Given the description of an element on the screen output the (x, y) to click on. 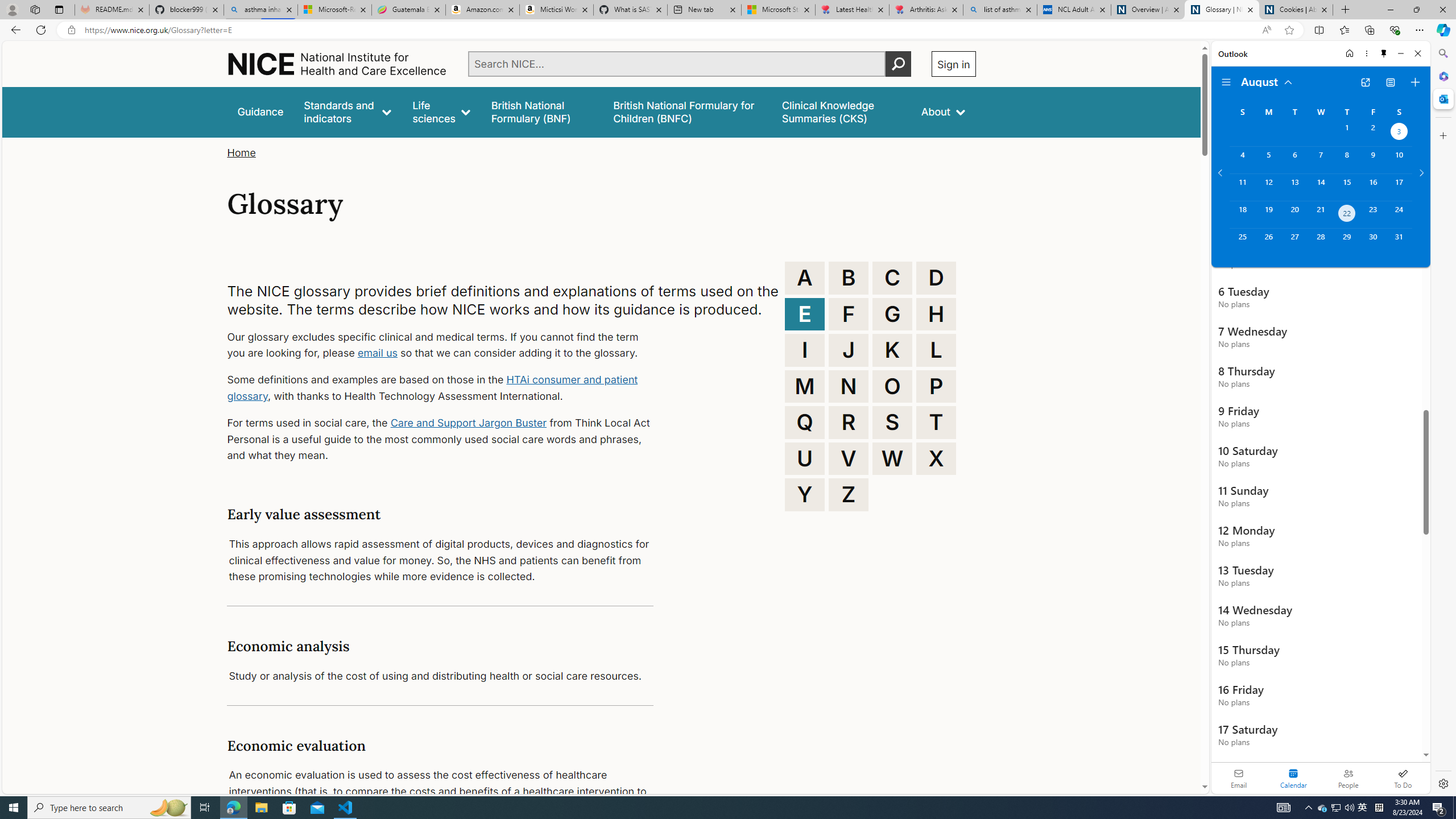
Create event (1414, 82)
U (804, 458)
Q (804, 422)
email us (376, 353)
Monday, August 19, 2024.  (1268, 214)
Search (1442, 53)
G (892, 313)
false (841, 111)
V (848, 458)
X (935, 458)
Personal Profile (12, 9)
Q (804, 422)
O (892, 385)
